Given the description of an element on the screen output the (x, y) to click on. 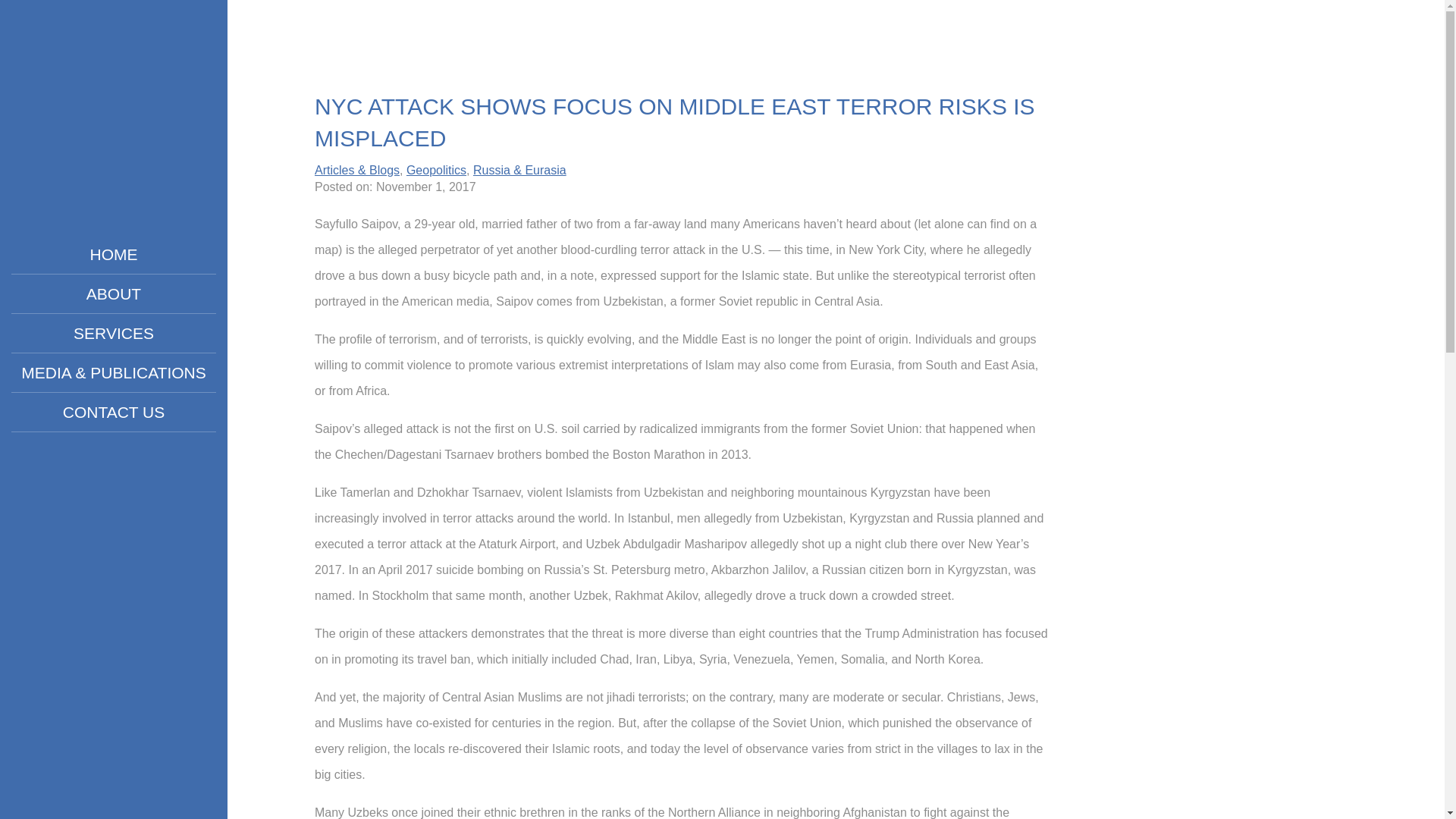
SERVICES (113, 332)
ABOUT (113, 293)
HOME (113, 254)
INTERNATIONAL MARKET ANALYSIS (113, 117)
